Given the description of an element on the screen output the (x, y) to click on. 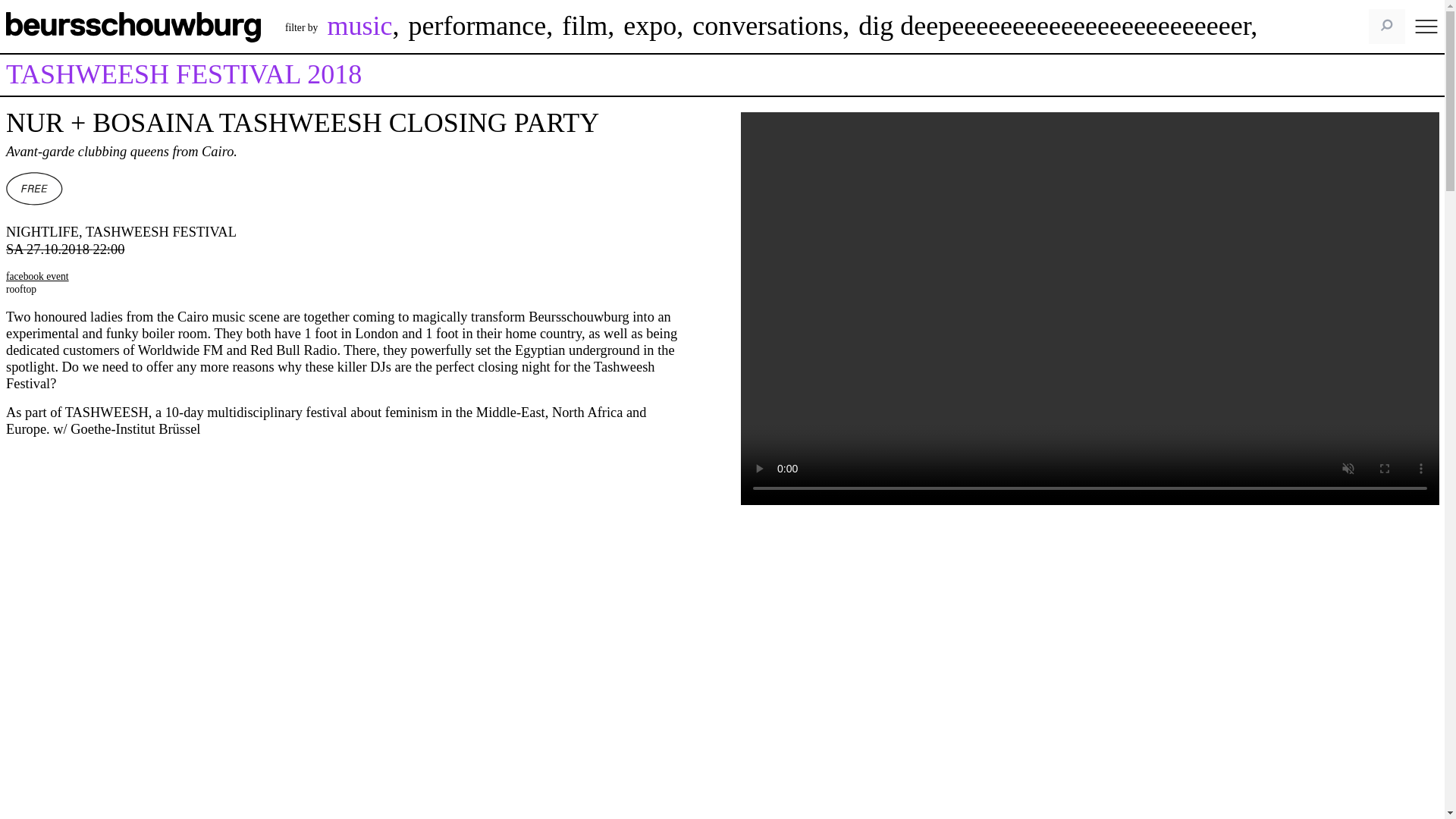
expo (650, 25)
conversations (768, 25)
dig deepeeeeeeeeeeeeeeeeeeeeeeeer (1054, 25)
film (584, 25)
facebook event (36, 276)
music (358, 25)
TASHWEESH FESTIVAL 2018 (183, 74)
performance (476, 25)
